Given the description of an element on the screen output the (x, y) to click on. 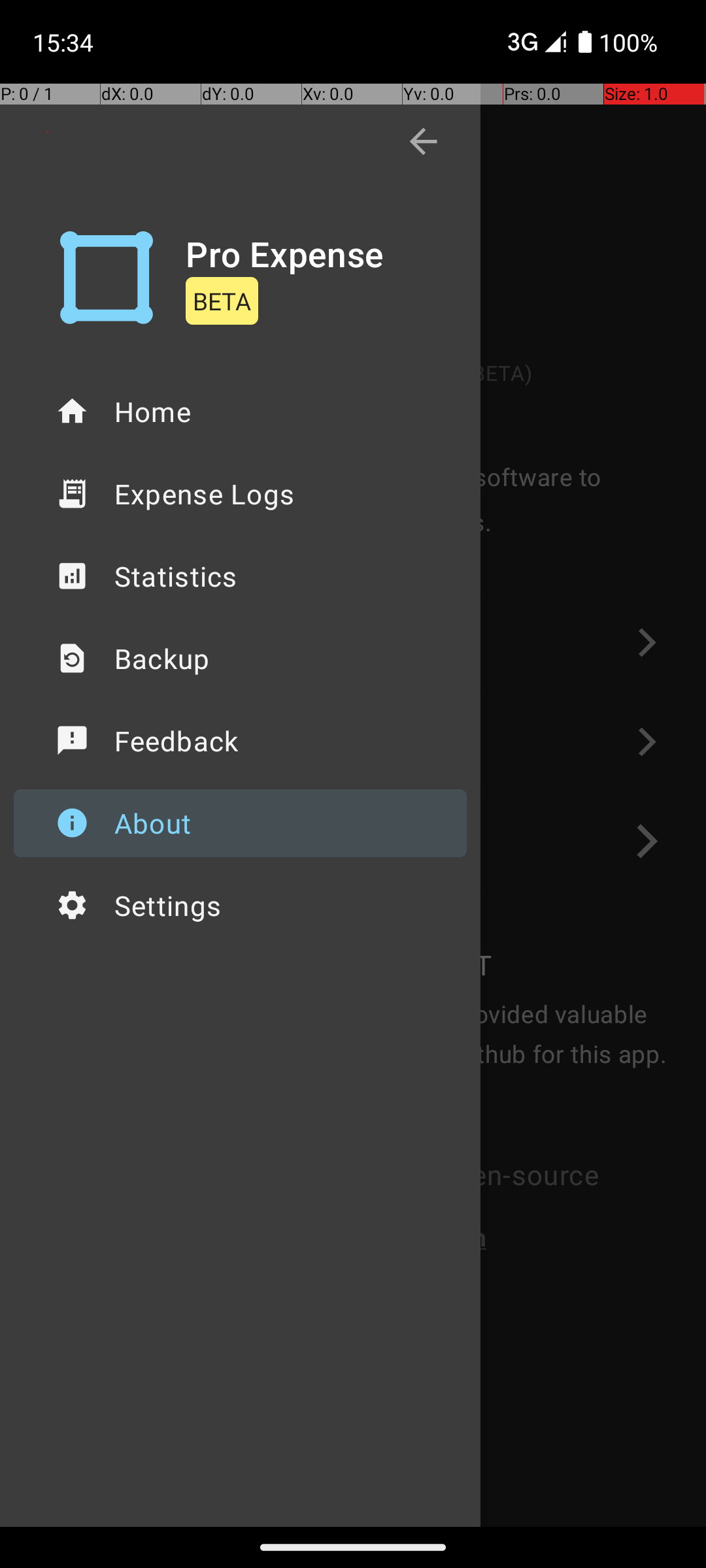
Pro Expense Element type: android.widget.TextView (284, 253)
BETA Element type: android.widget.TextView (221, 300)
Expense Logs Element type: android.widget.CheckedTextView (239, 493)
Statistics Element type: android.widget.CheckedTextView (239, 576)
Backup Element type: android.widget.CheckedTextView (239, 658)
Feedback Element type: android.widget.CheckedTextView (239, 740)
About Element type: android.widget.CheckedTextView (239, 823)
